Given the description of an element on the screen output the (x, y) to click on. 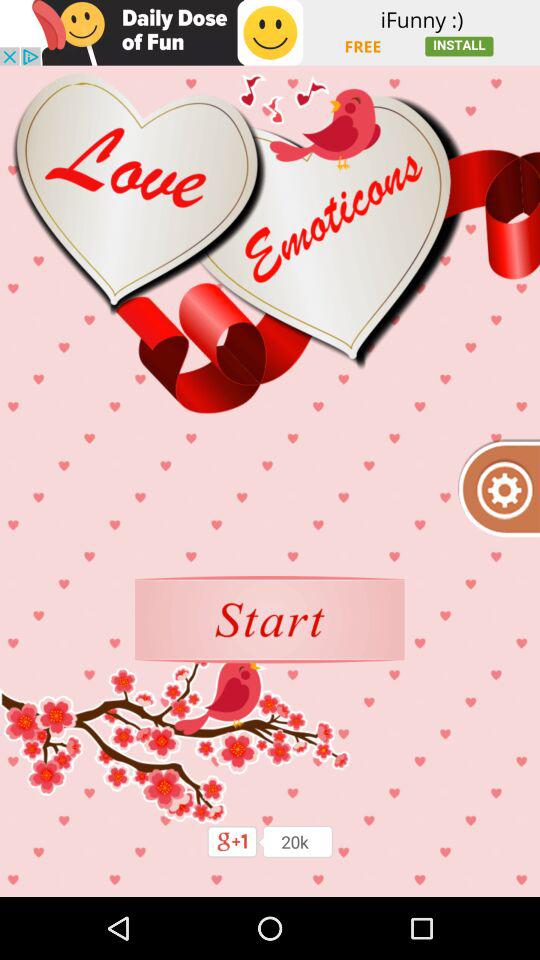
banner advertisement (270, 32)
